Given the description of an element on the screen output the (x, y) to click on. 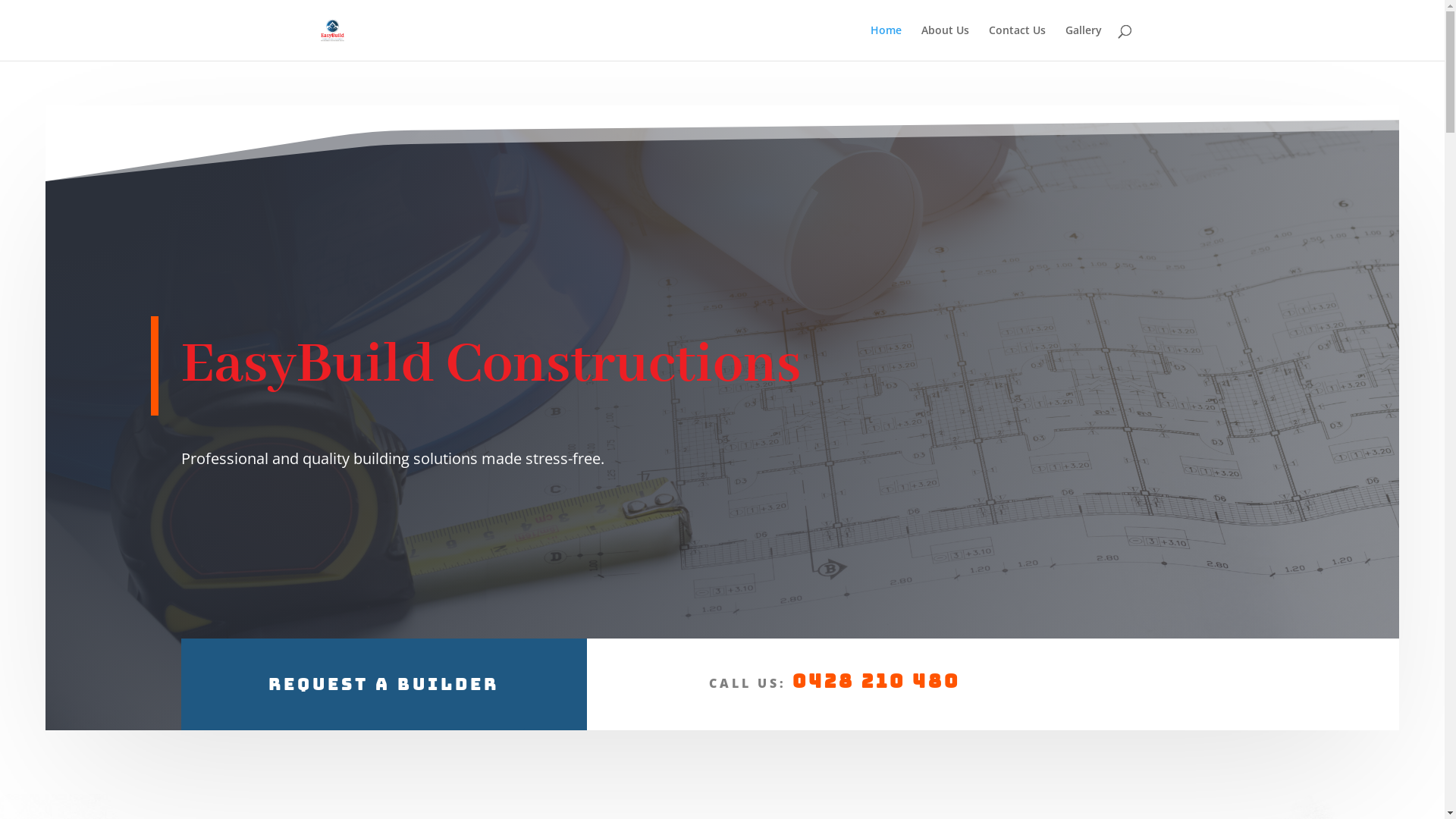
About Us Element type: text (944, 42)
Gallery Element type: text (1082, 42)
Home Element type: text (885, 42)
Contact Us Element type: text (1016, 42)
Request a Builder Element type: text (383, 684)
0428 210 480 Element type: text (876, 680)
